Given the description of an element on the screen output the (x, y) to click on. 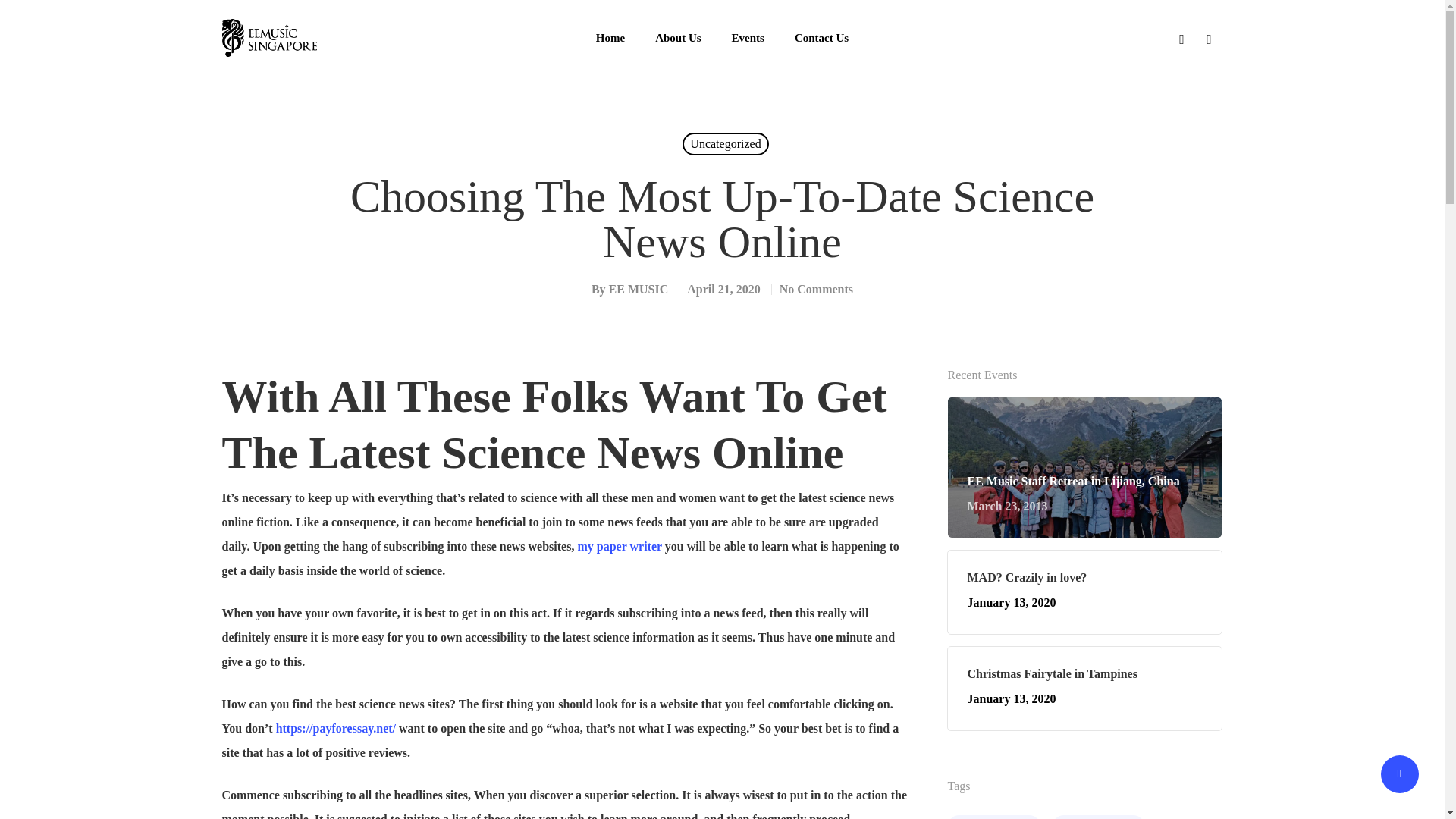
Posts by EE MUSIC (638, 288)
Year 2017 Events (994, 816)
EE MUSIC (638, 288)
Contact Us (821, 37)
No Comments (815, 288)
Home (609, 37)
Year 2019 Events (1097, 816)
About Us (677, 37)
my paper writer (1084, 688)
Uncategorized (1084, 592)
Events (618, 545)
